Given the description of an element on the screen output the (x, y) to click on. 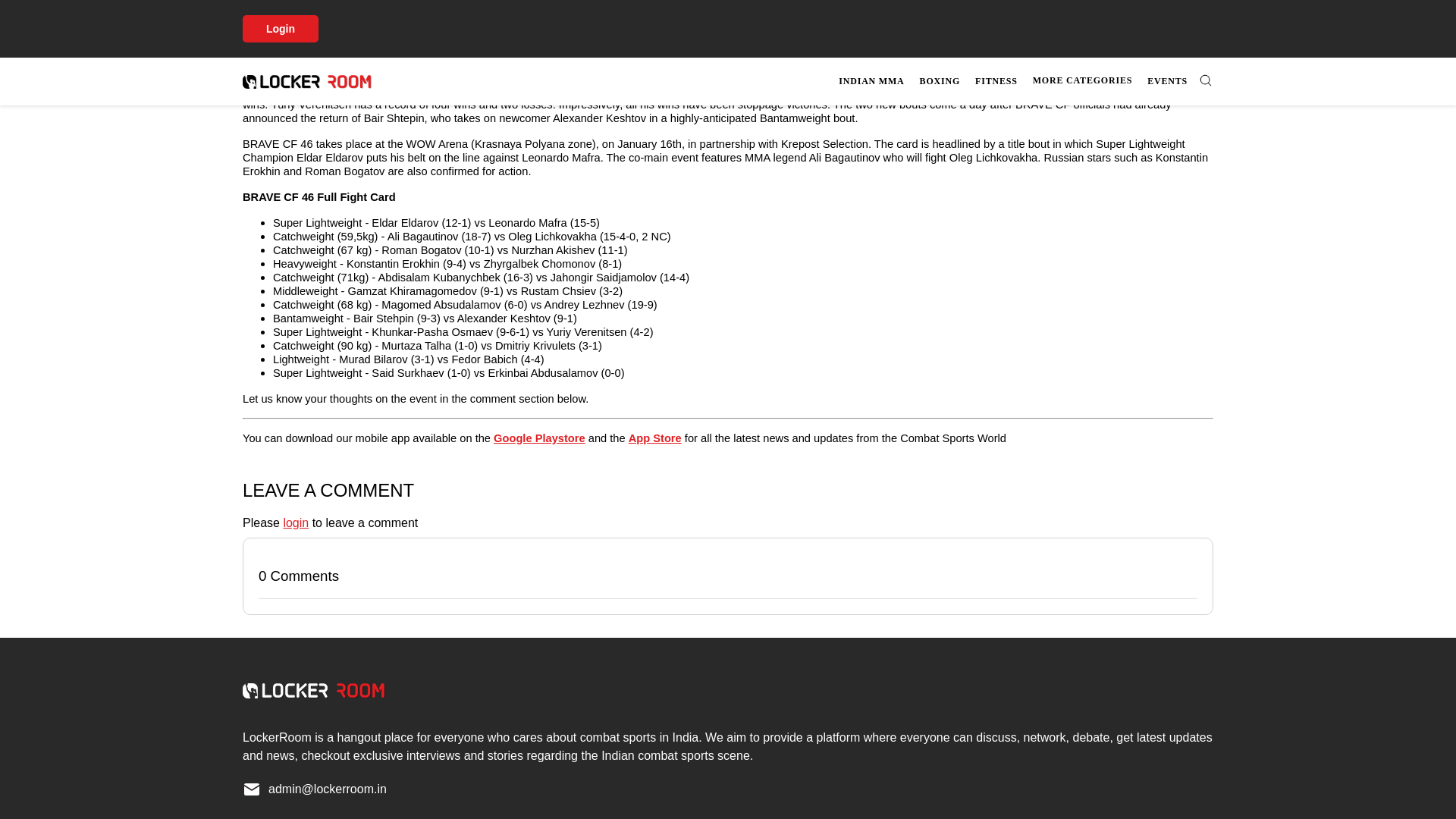
BRAVE Combat Federation (314, 2)
Google Playstore (539, 438)
App Store (654, 438)
